Given the description of an element on the screen output the (x, y) to click on. 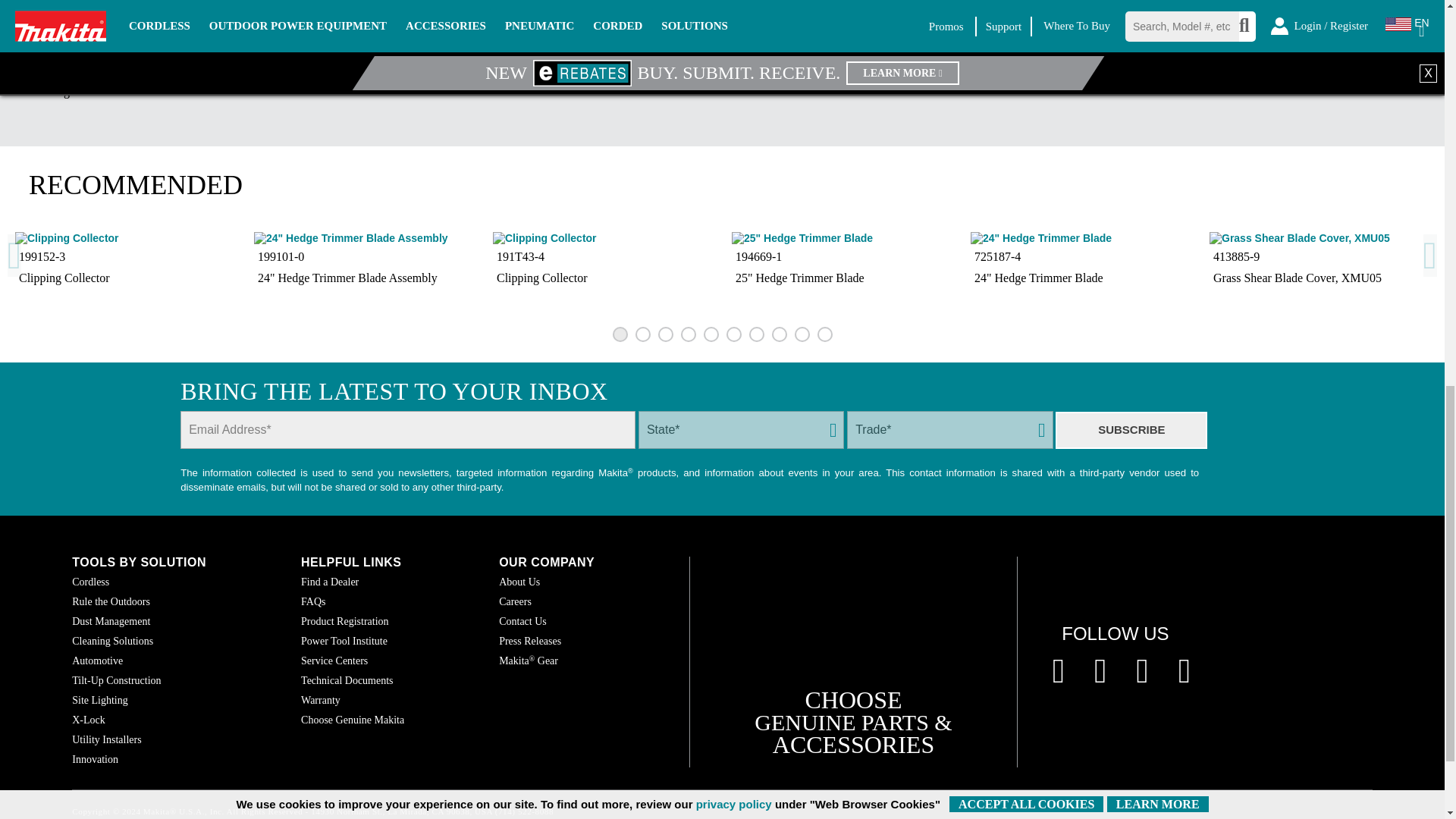
Subscribe (1131, 429)
